Given the description of an element on the screen output the (x, y) to click on. 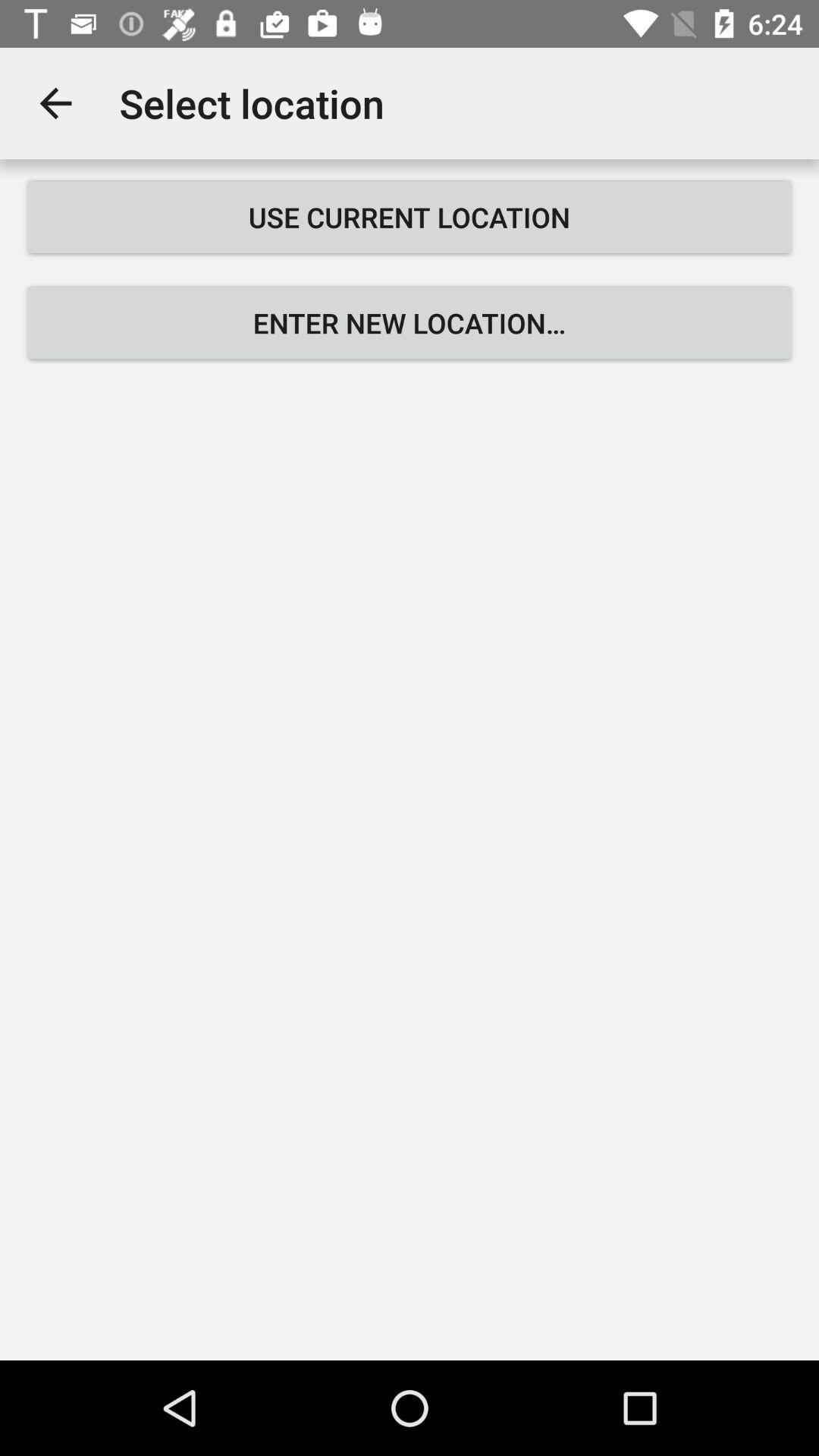
jump until the use current location item (409, 217)
